Given the description of an element on the screen output the (x, y) to click on. 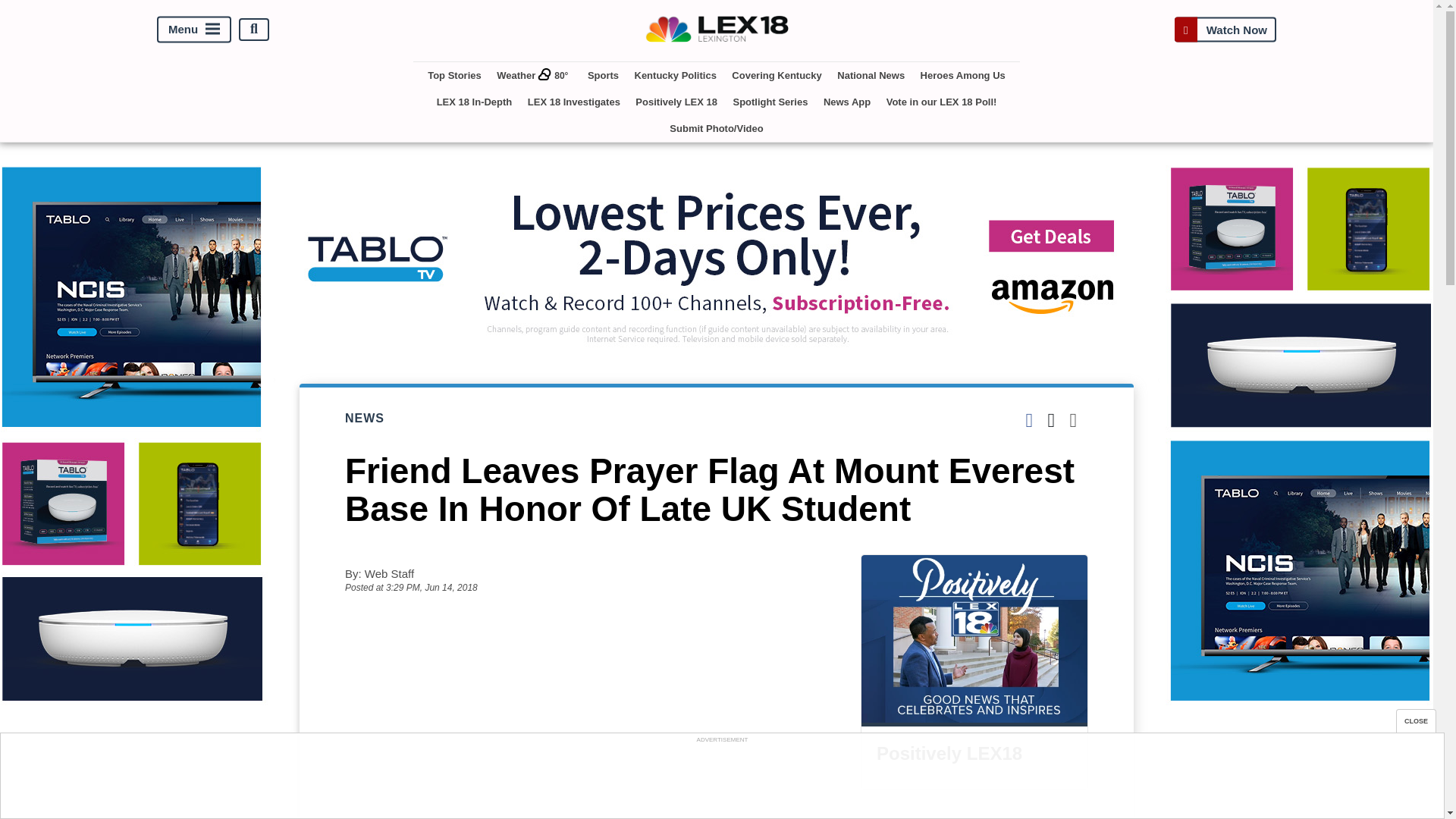
Watch Now (1224, 29)
3rd party ad content (721, 780)
Menu (194, 28)
